Given the description of an element on the screen output the (x, y) to click on. 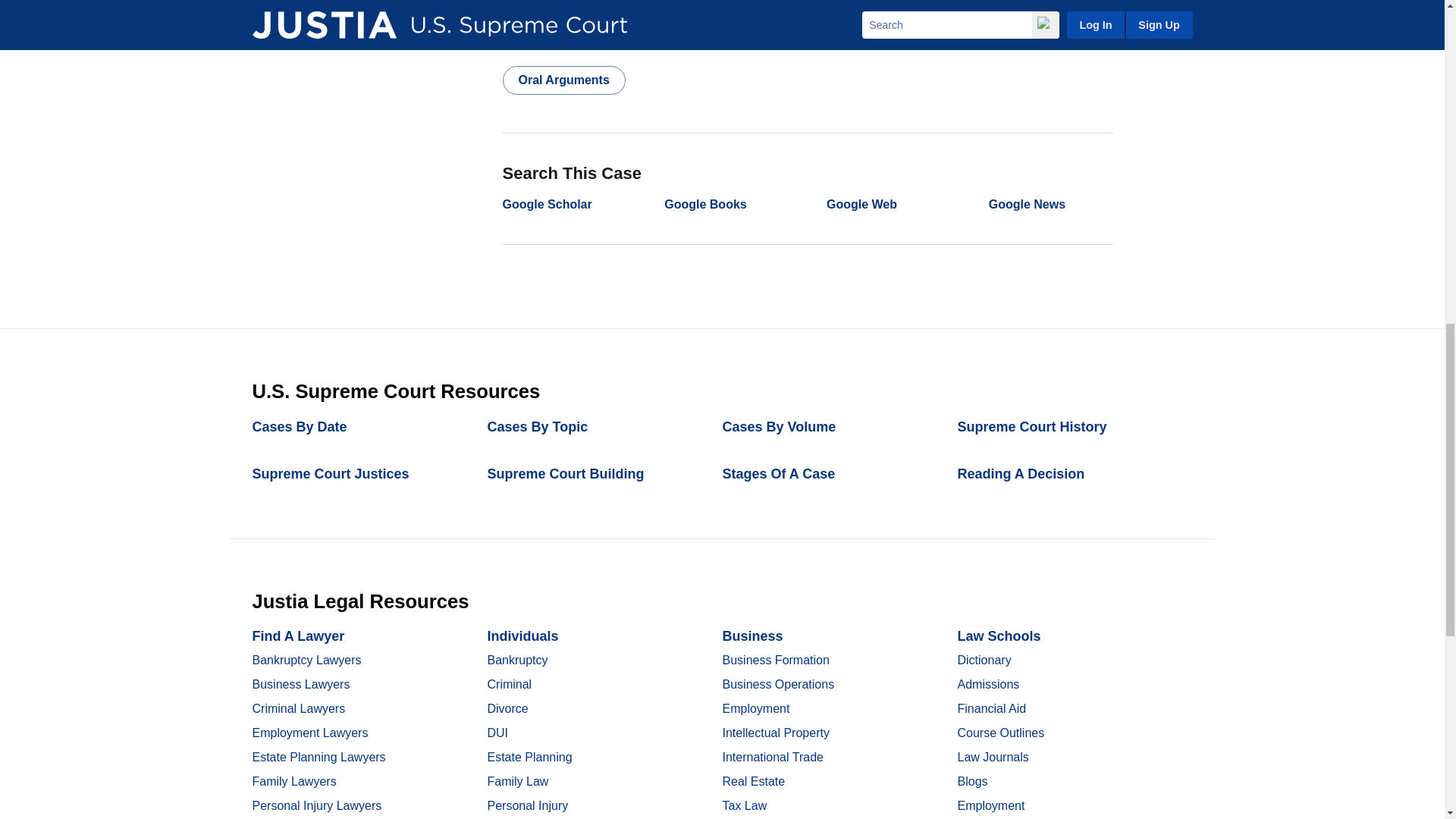
Law - Google News (1026, 204)
Law - Google Web (861, 204)
Law - Google Scholar (546, 204)
Law - Google Books (704, 204)
